Given the description of an element on the screen output the (x, y) to click on. 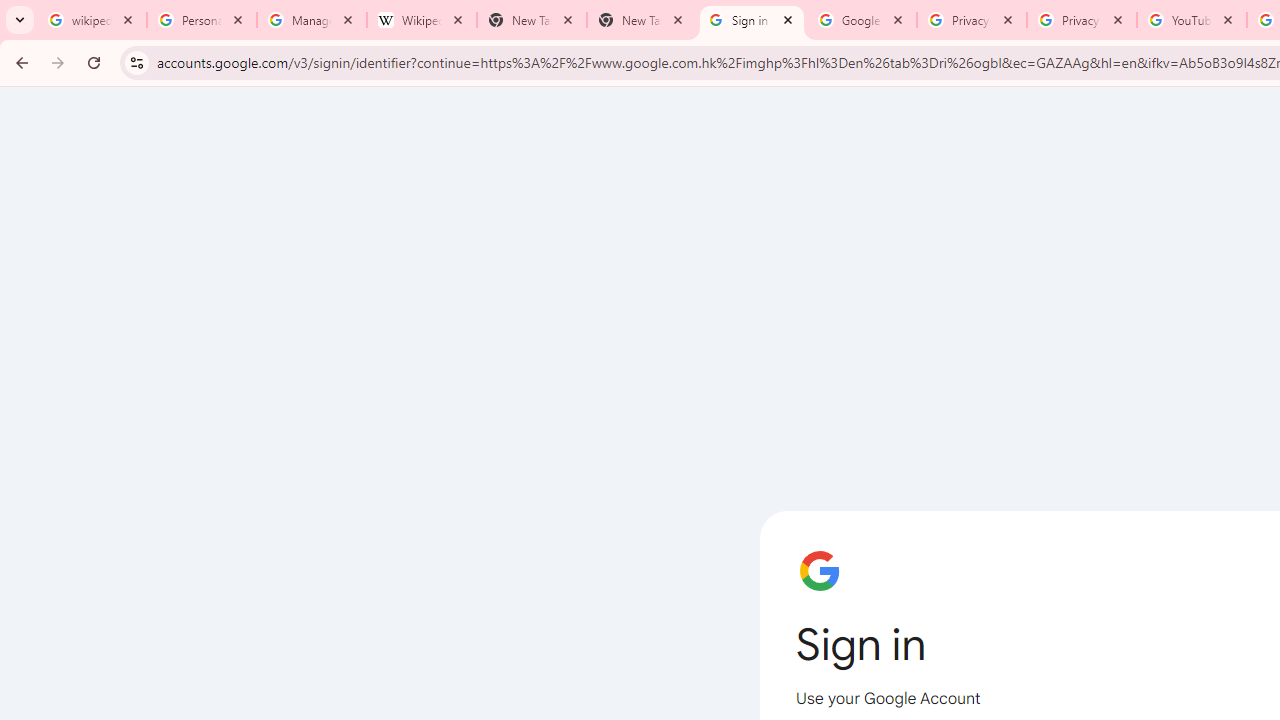
Google Drive: Sign-in (861, 20)
Personalization & Google Search results - Google Search Help (202, 20)
Manage your Location History - Google Search Help (312, 20)
Sign in - Google Accounts (752, 20)
Wikipedia:Edit requests - Wikipedia (422, 20)
YouTube (1191, 20)
